Given the description of an element on the screen output the (x, y) to click on. 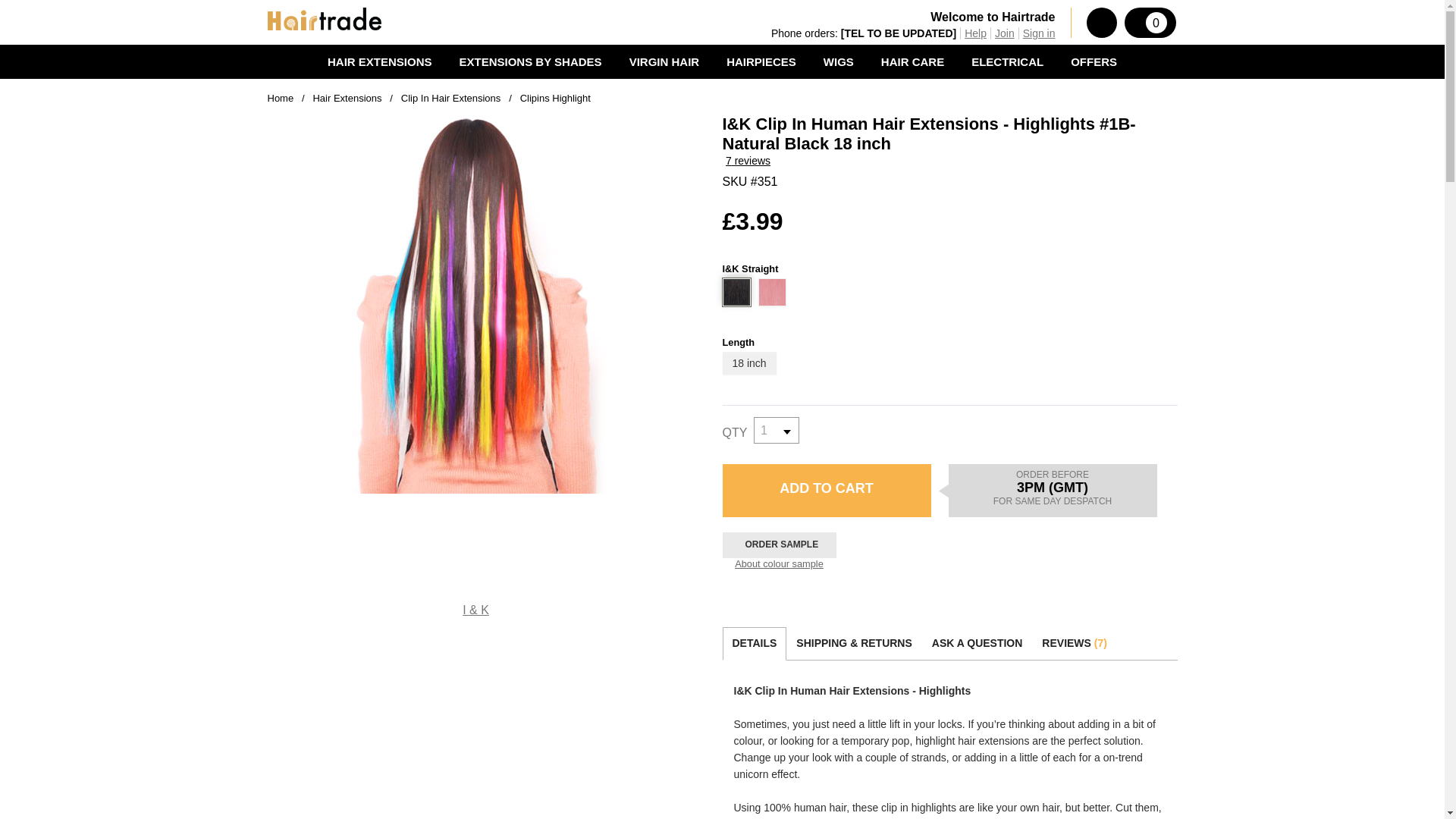
Join (1004, 33)
Hairtrade (323, 18)
Help (975, 33)
Search (1101, 22)
Sign in (1039, 33)
0 (1149, 22)
Shopping Cart (1149, 22)
HAIR EXTENSIONS (379, 61)
